Given the description of an element on the screen output the (x, y) to click on. 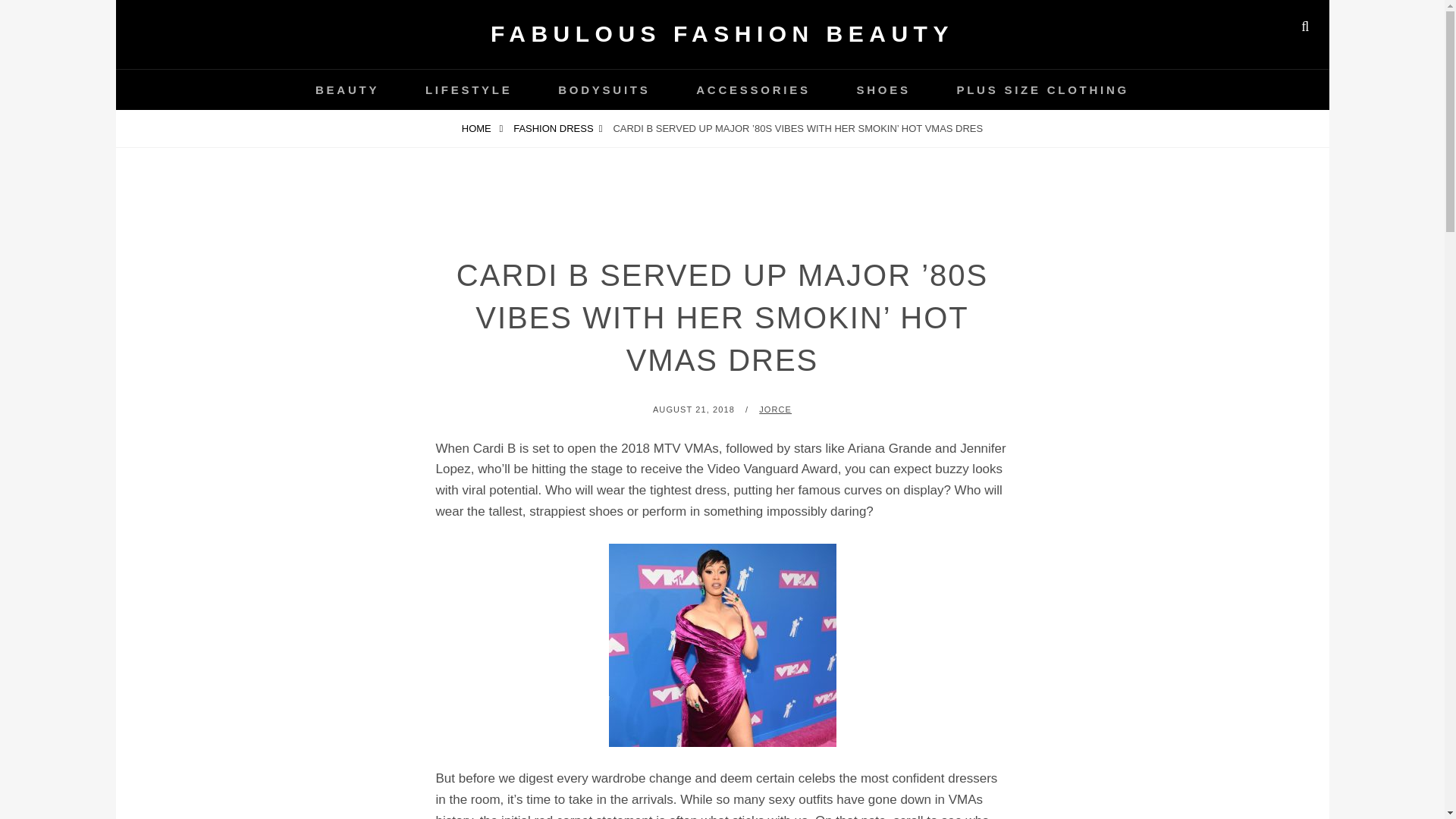
FASHION DRESS (557, 128)
BEAUTY (347, 89)
JORCE (775, 409)
PLUS SIZE CLOTHING (1042, 89)
LIFESTYLE (469, 89)
HOME (482, 128)
SHOES (882, 89)
FABULOUS FASHION BEAUTY (721, 33)
ACCESSORIES (753, 89)
BODYSUITS (604, 89)
